Given the description of an element on the screen output the (x, y) to click on. 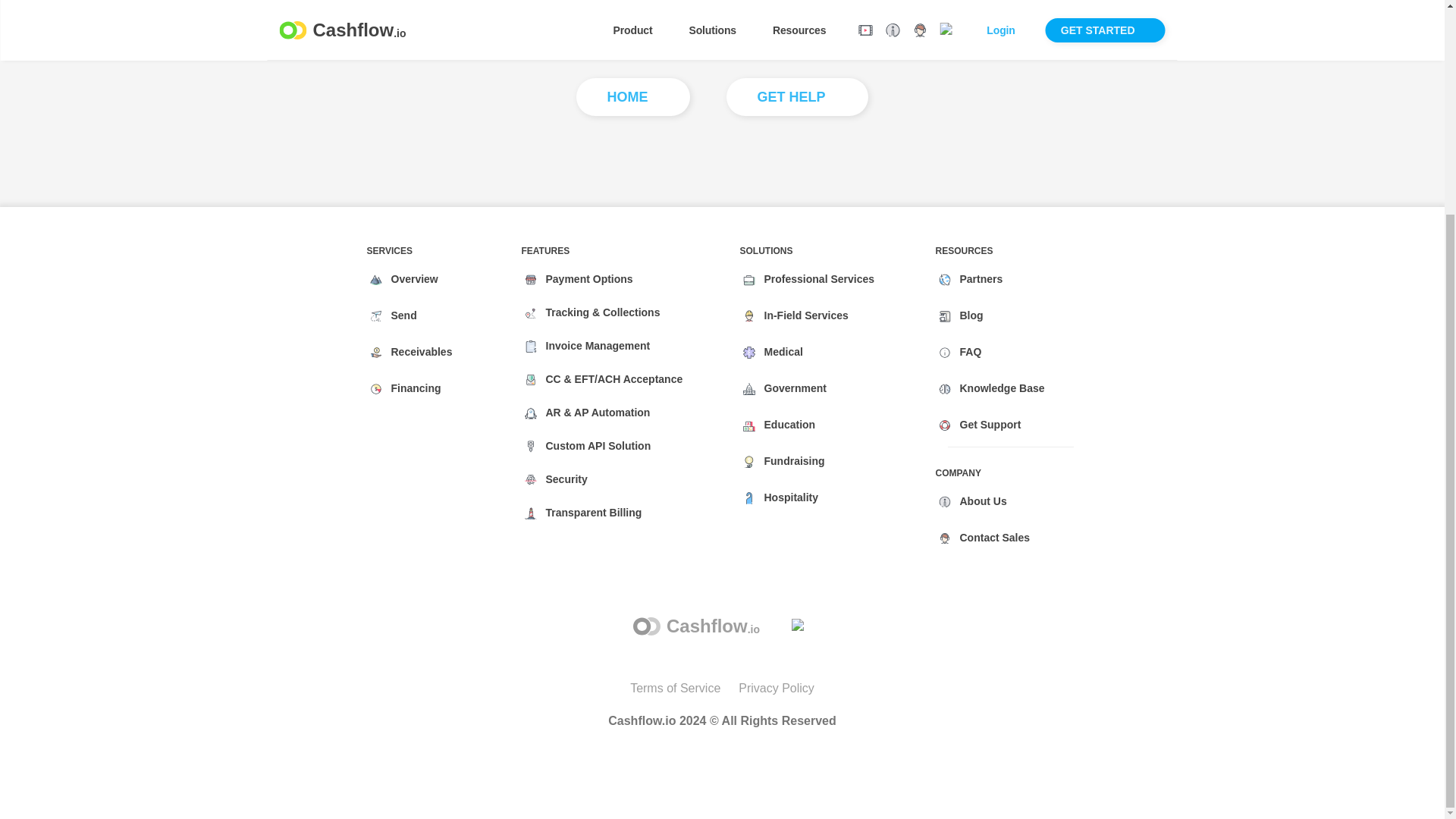
Invoice Management (595, 346)
About Us (980, 501)
In-Field Services (802, 316)
Contact Sales (992, 538)
Get Support (990, 425)
Receivables (419, 352)
FAQ (970, 352)
HOME (633, 96)
Knowledge Base (1002, 388)
Security (563, 480)
Blog (968, 316)
Transparent Billing (590, 512)
Financing (413, 388)
Custom API Solution (595, 446)
Overview (412, 279)
